Given the description of an element on the screen output the (x, y) to click on. 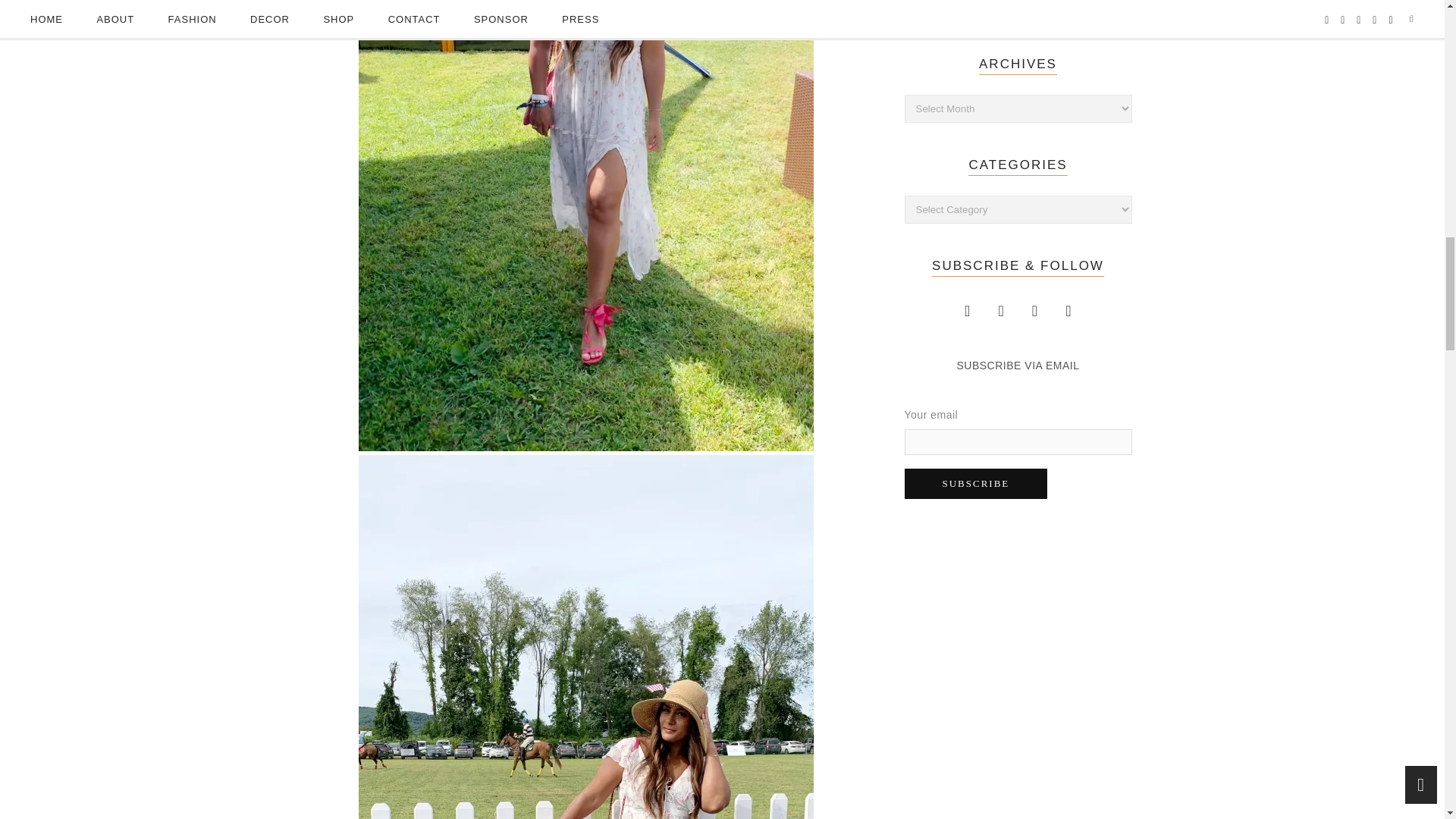
Subscribe (975, 483)
